Given the description of an element on the screen output the (x, y) to click on. 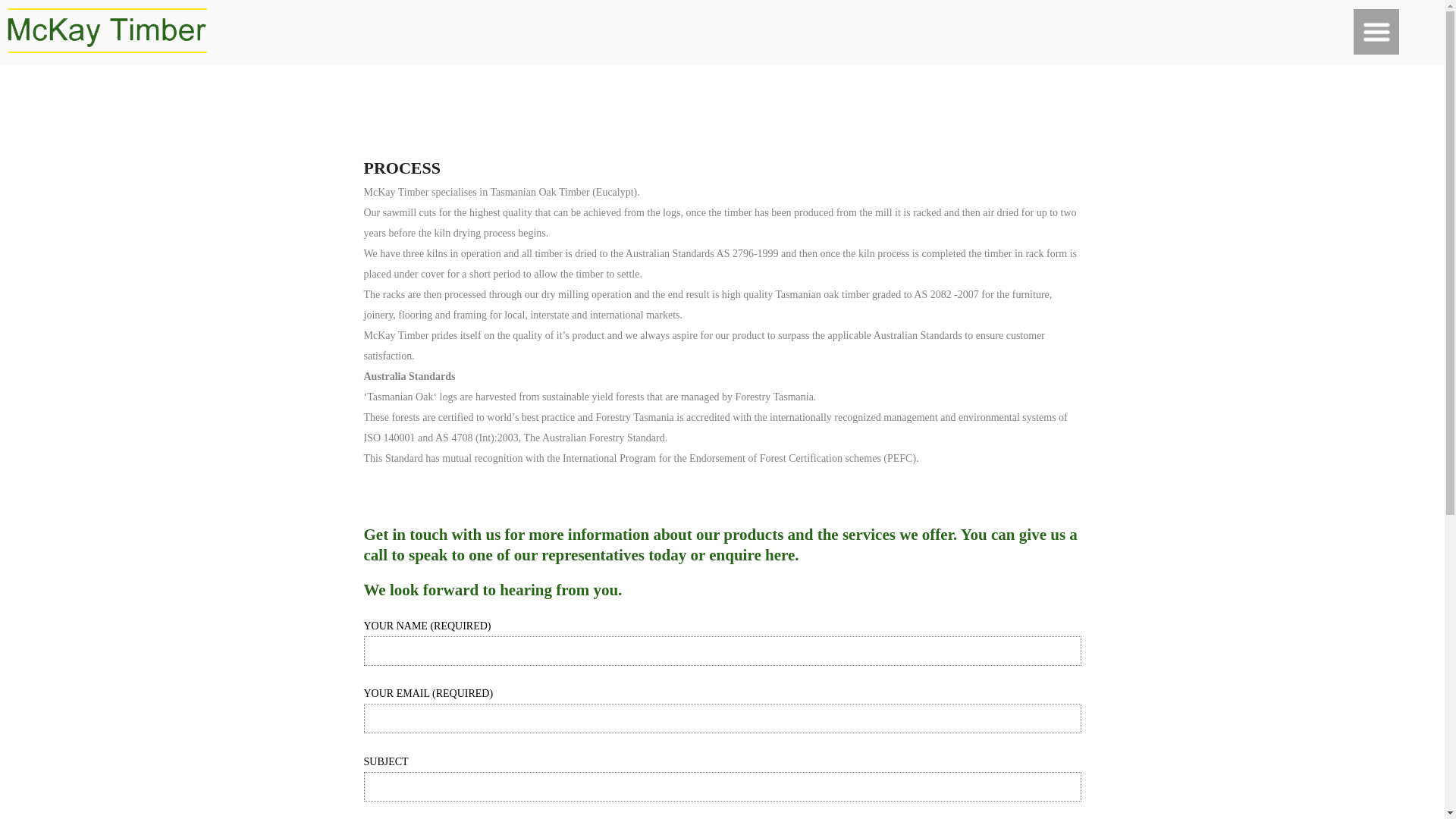
mckay timber Element type: hover (107, 30)
